Given the description of an element on the screen output the (x, y) to click on. 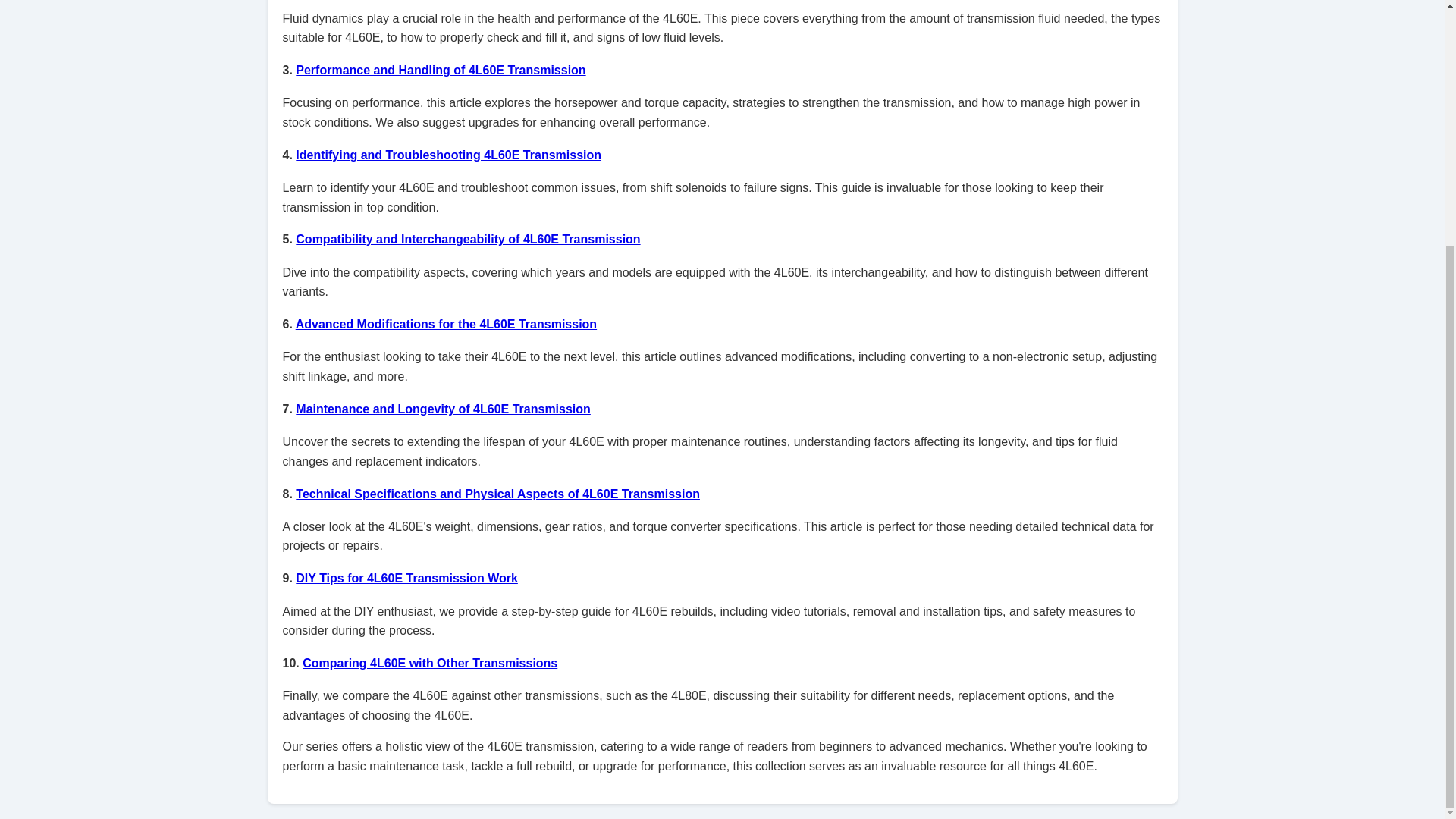
DIY Tips for 4L60E Transmission Work (406, 577)
Identifying and Troubleshooting 4L60E Transmission (448, 154)
Performance and Handling of 4L60E Transmission (440, 69)
Maintenance and Longevity of 4L60E Transmission (443, 408)
Comparing 4L60E with Other Transmissions (429, 662)
Advanced Modifications for the 4L60E Transmission (445, 323)
Compatibility and Interchangeability of 4L60E Transmission (467, 238)
